Given the description of an element on the screen output the (x, y) to click on. 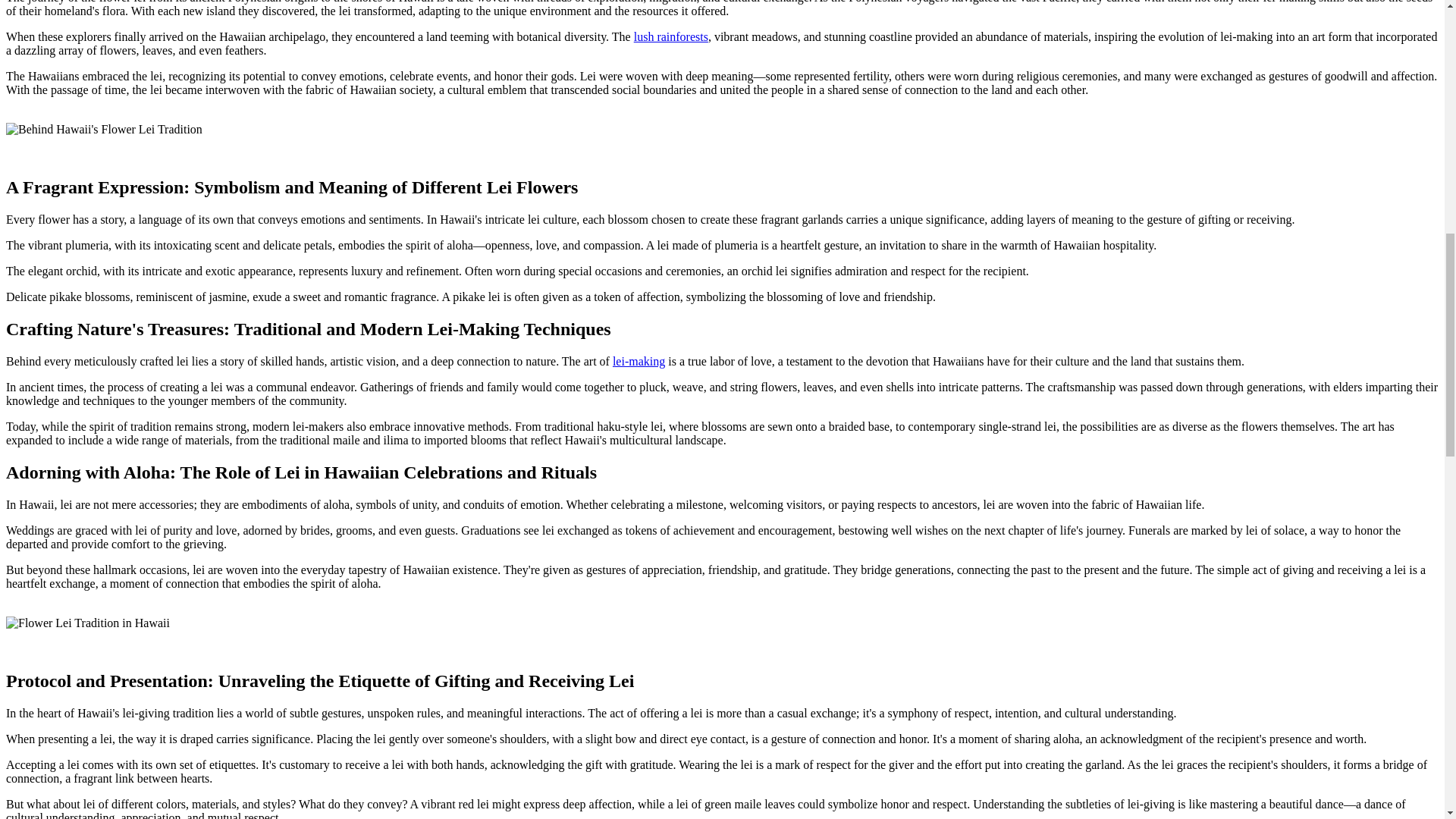
lush rainforests (670, 36)
lei-making (638, 360)
